Given the description of an element on the screen output the (x, y) to click on. 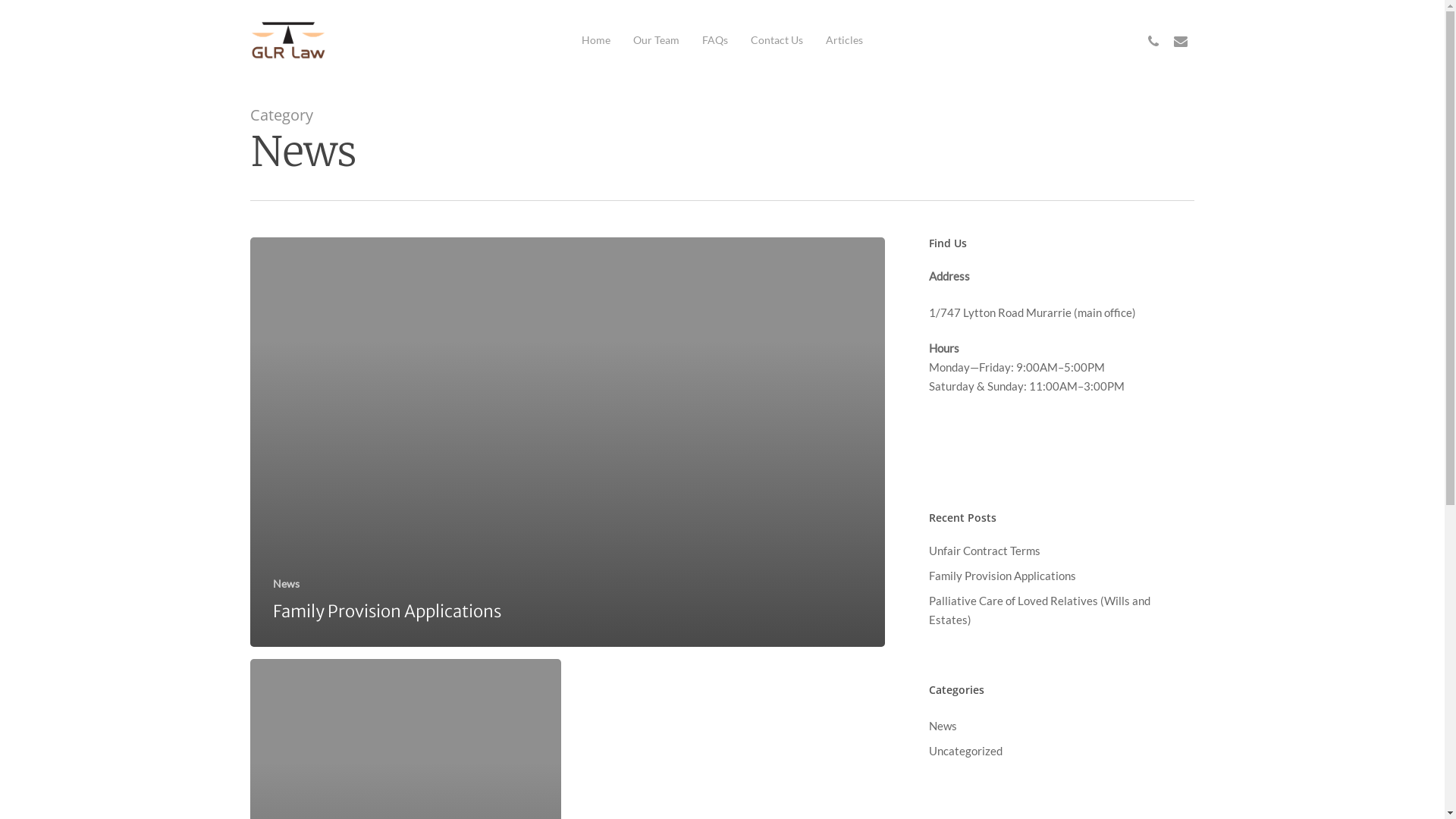
Contact Us Element type: text (776, 39)
Articles Element type: text (843, 39)
Family Provision Applications Element type: text (1058, 575)
Uncategorized Element type: text (1058, 750)
FAQs Element type: text (715, 39)
phone Element type: text (1153, 39)
Home Element type: text (595, 39)
News Element type: text (1058, 725)
News Element type: text (286, 583)
email Element type: text (1180, 39)
Unfair Contract Terms Element type: text (1058, 550)
Palliative Care of Loved Relatives (Wills and Estates) Element type: text (1058, 610)
Family Provision Applications Element type: text (387, 610)
Our Team Element type: text (656, 39)
